Given the description of an element on the screen output the (x, y) to click on. 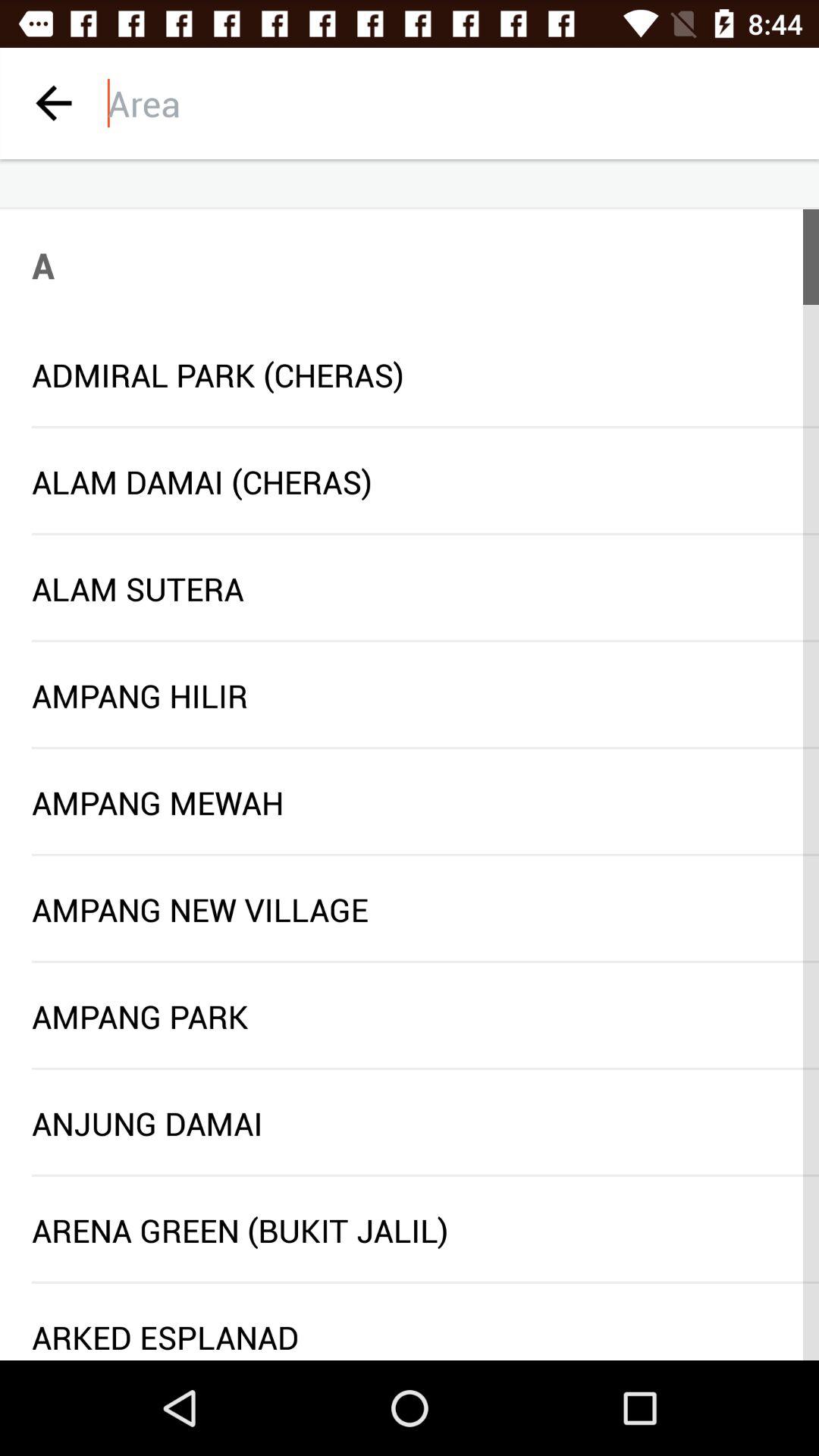
press alam sutera (409, 588)
